Given the description of an element on the screen output the (x, y) to click on. 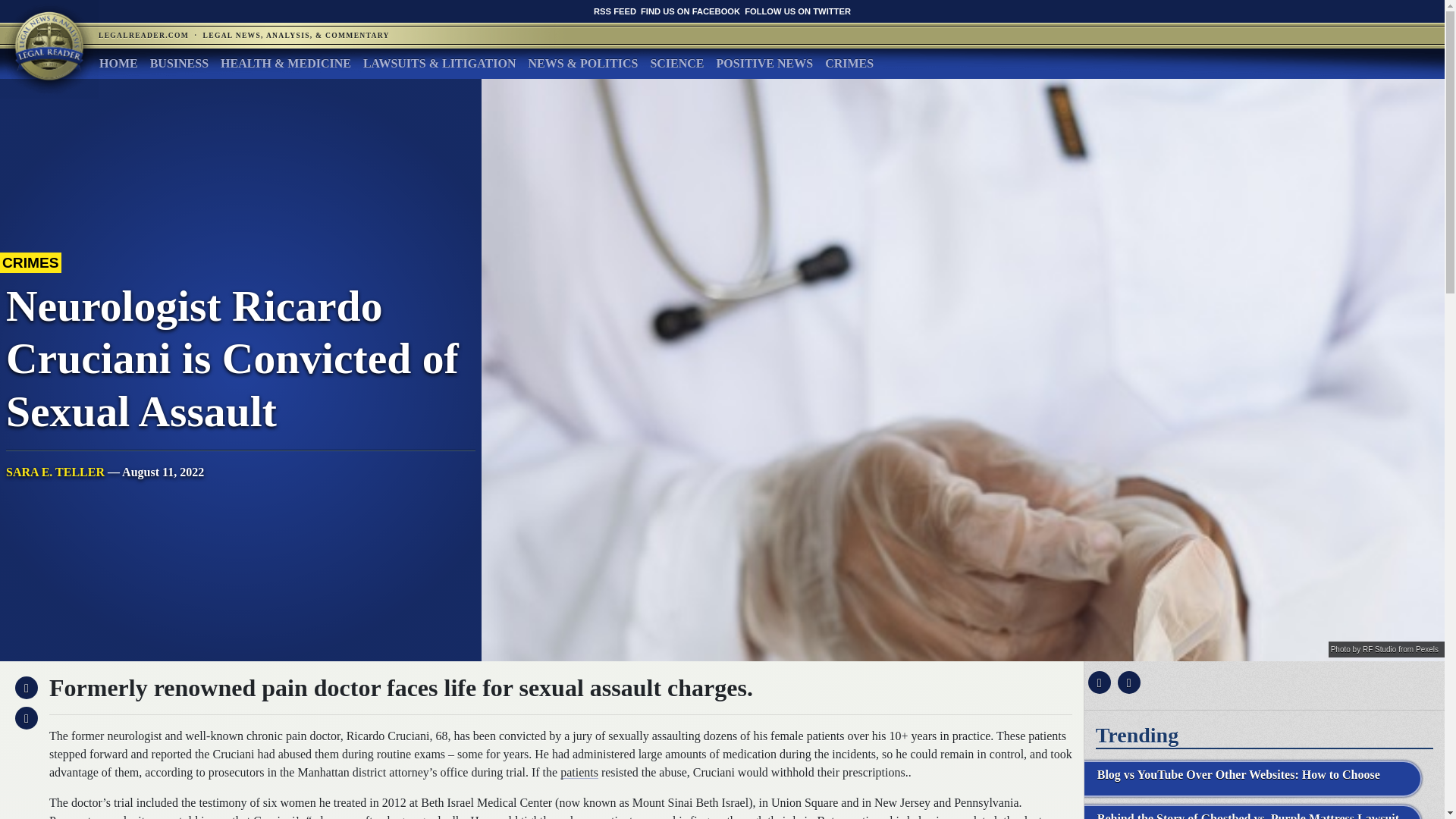
Science (676, 63)
Home (118, 63)
Follow Legal Reader on Twitter (797, 10)
BUSINESS (179, 63)
HOME (118, 63)
Crimes (848, 63)
SCIENCE (676, 63)
FOLLOW US ON TWITTER (797, 10)
Positive News (764, 63)
SARA E. TELLER (54, 472)
